Given the description of an element on the screen output the (x, y) to click on. 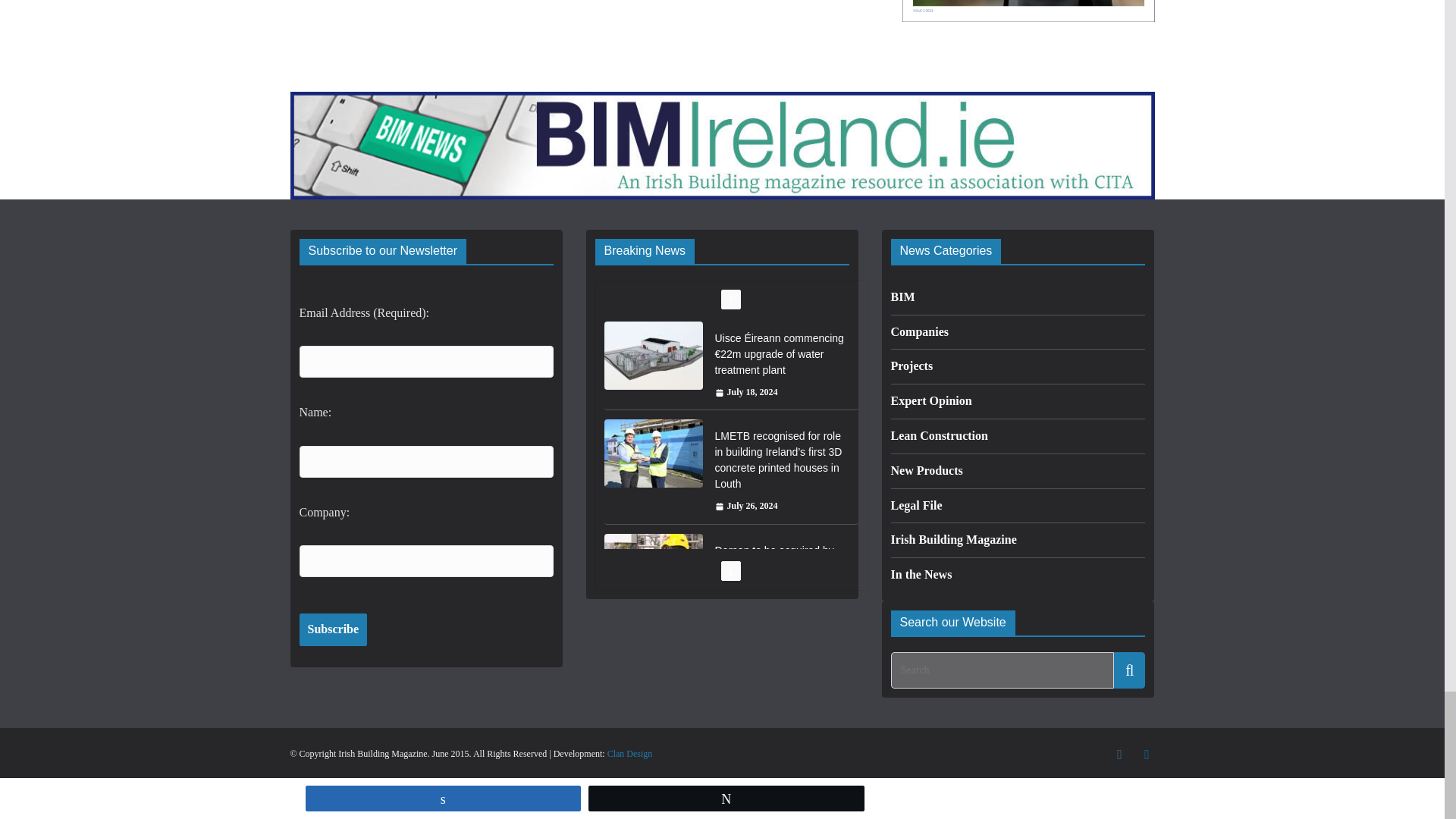
7:34 am (745, 392)
Subscribe (332, 629)
Dornan to be acquired by Turner Construction Company (652, 567)
7:01 am (745, 506)
